Given the description of an element on the screen output the (x, y) to click on. 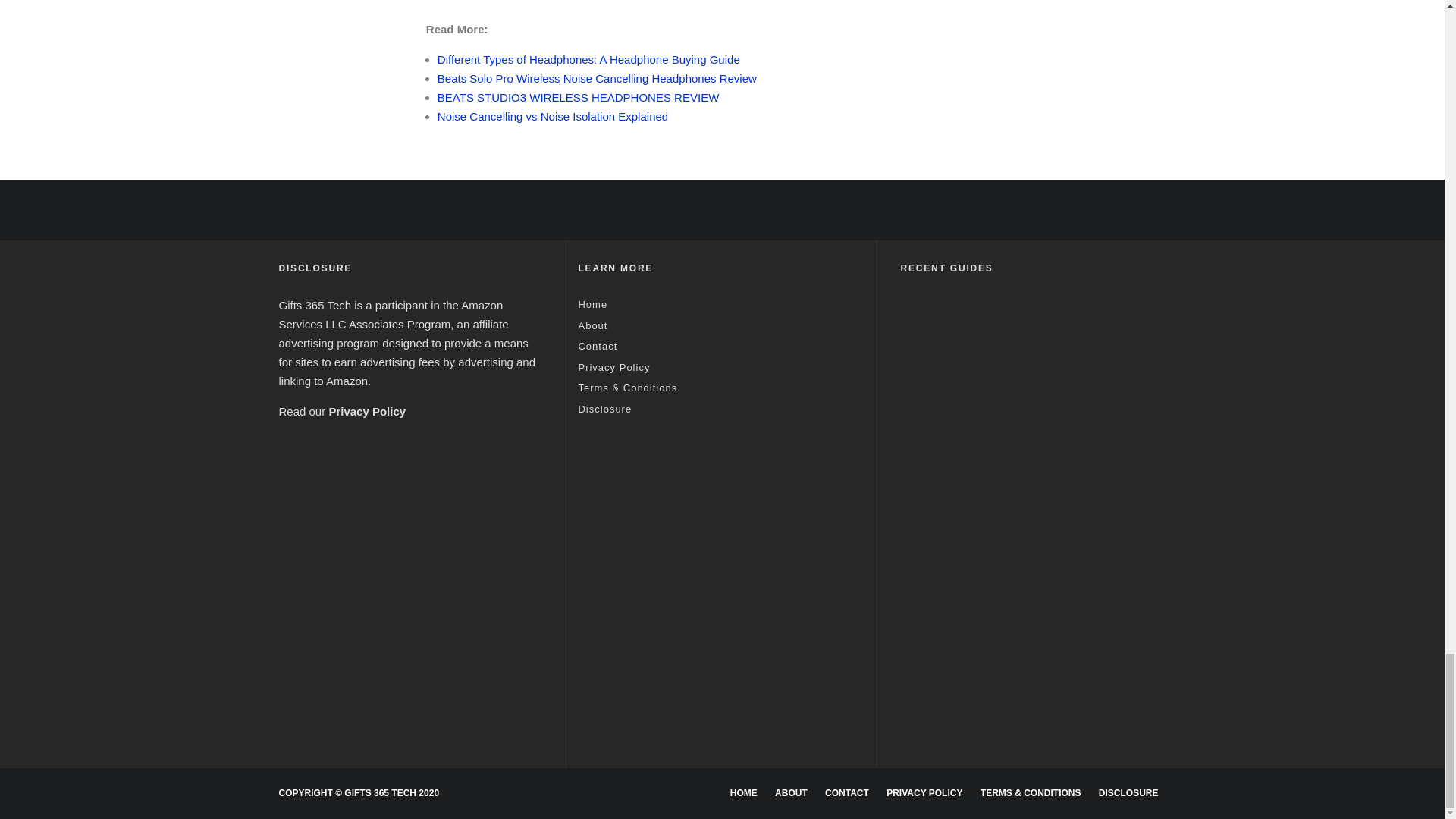
Beats Solo Pro Wireless Noise Cancelling Headphones Review (597, 78)
Home (592, 304)
Noise Cancelling vs Noise Isolation Explained (553, 115)
About (592, 325)
Privacy Policy (367, 410)
Contact (597, 346)
BEATS STUDIO3 WIRELESS HEADPHONES REVIEW (578, 97)
Different Types of Headphones: A Headphone Buying Guide (588, 59)
